Given the description of an element on the screen output the (x, y) to click on. 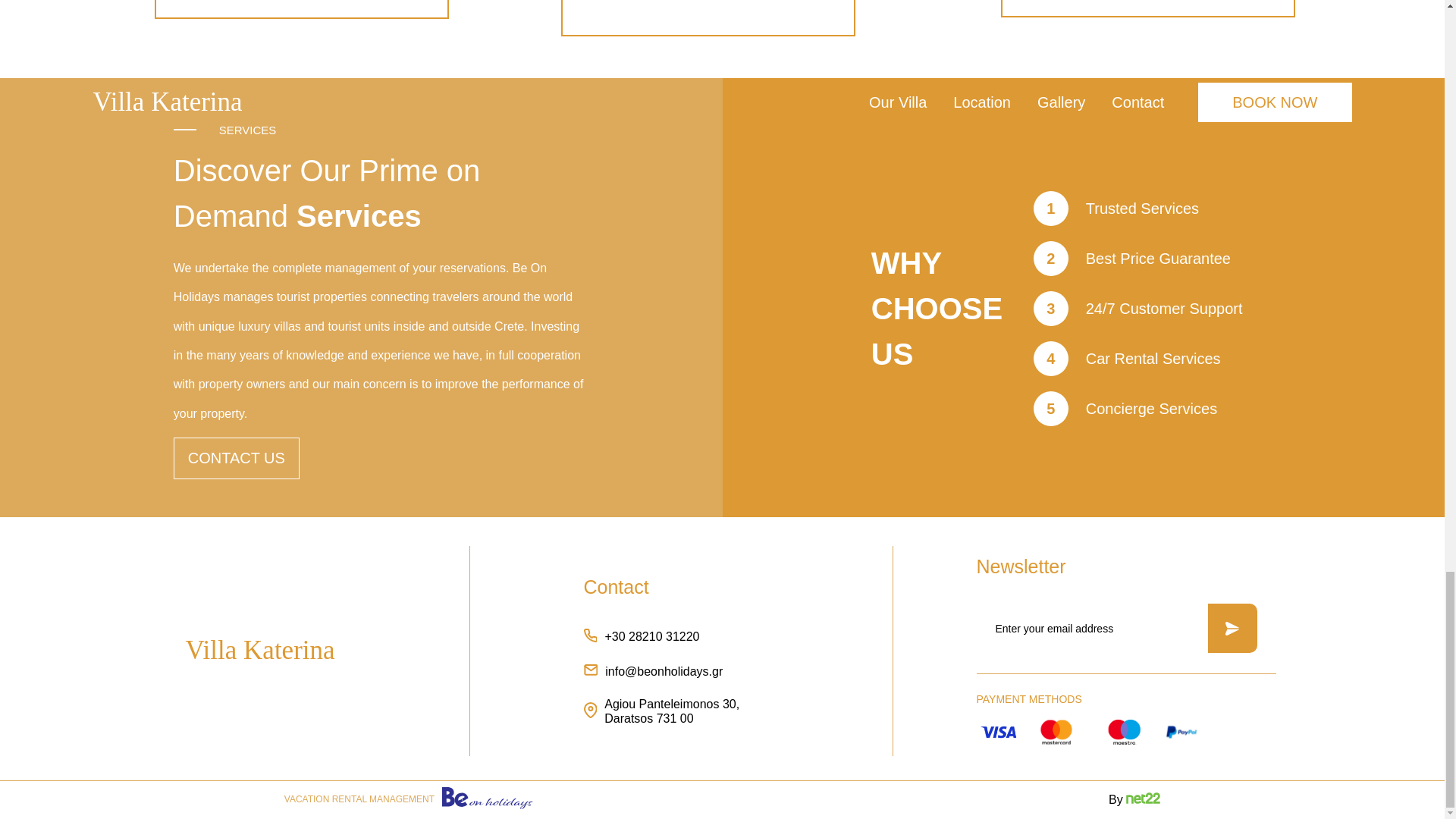
Be On Holidays Logo (487, 799)
Agiou Panteleimonos 30, Daratsos 731 00 (663, 711)
CONTACT US (236, 458)
Villa Katerina (259, 651)
